Given the description of an element on the screen output the (x, y) to click on. 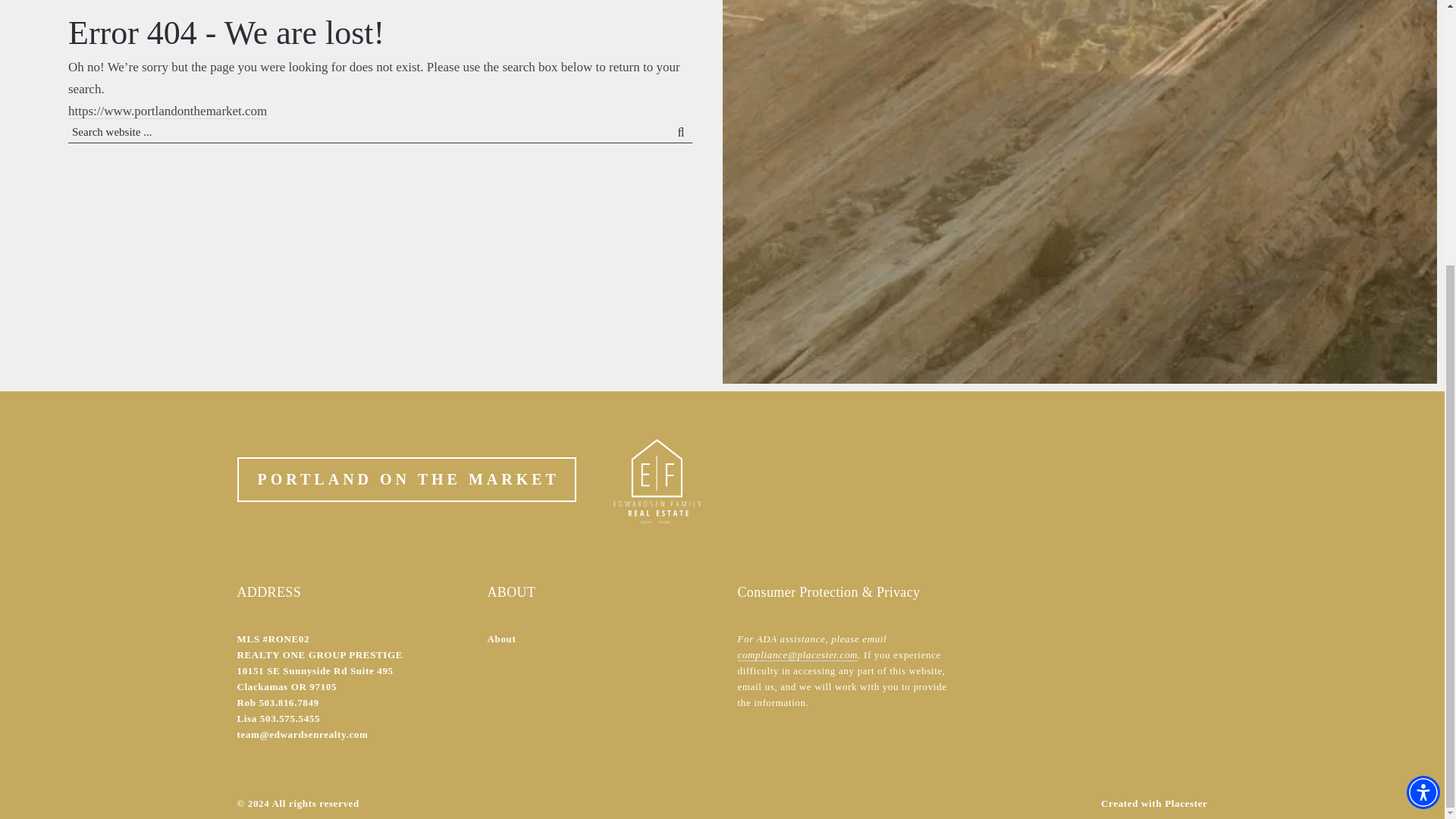
About (500, 638)
Accessibility Menu (1422, 408)
PORTLAND ON THE MARKET (405, 479)
Placester (1185, 803)
